Given the description of an element on the screen output the (x, y) to click on. 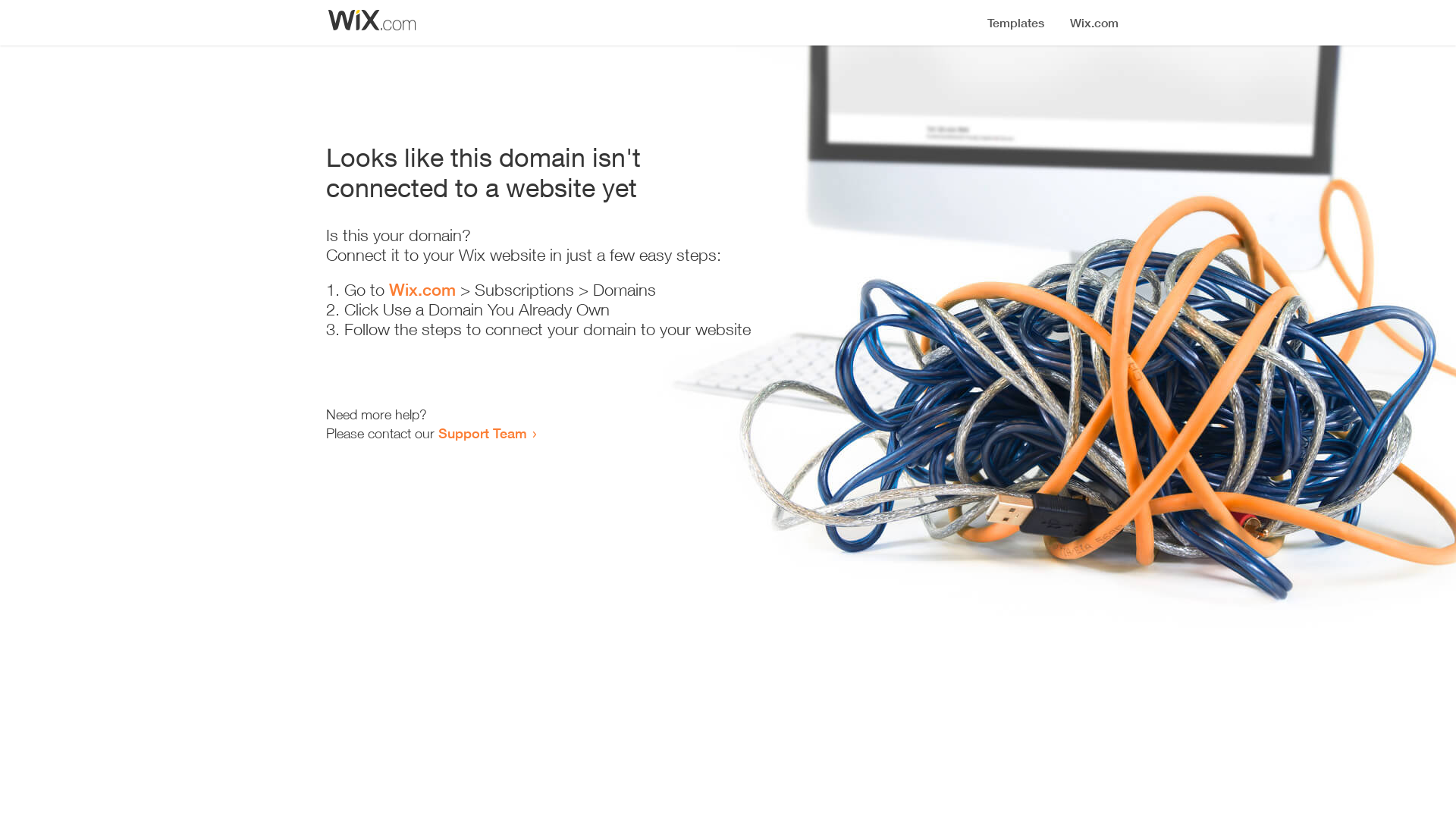
Wix.com Element type: text (422, 289)
Support Team Element type: text (482, 432)
